Given the description of an element on the screen output the (x, y) to click on. 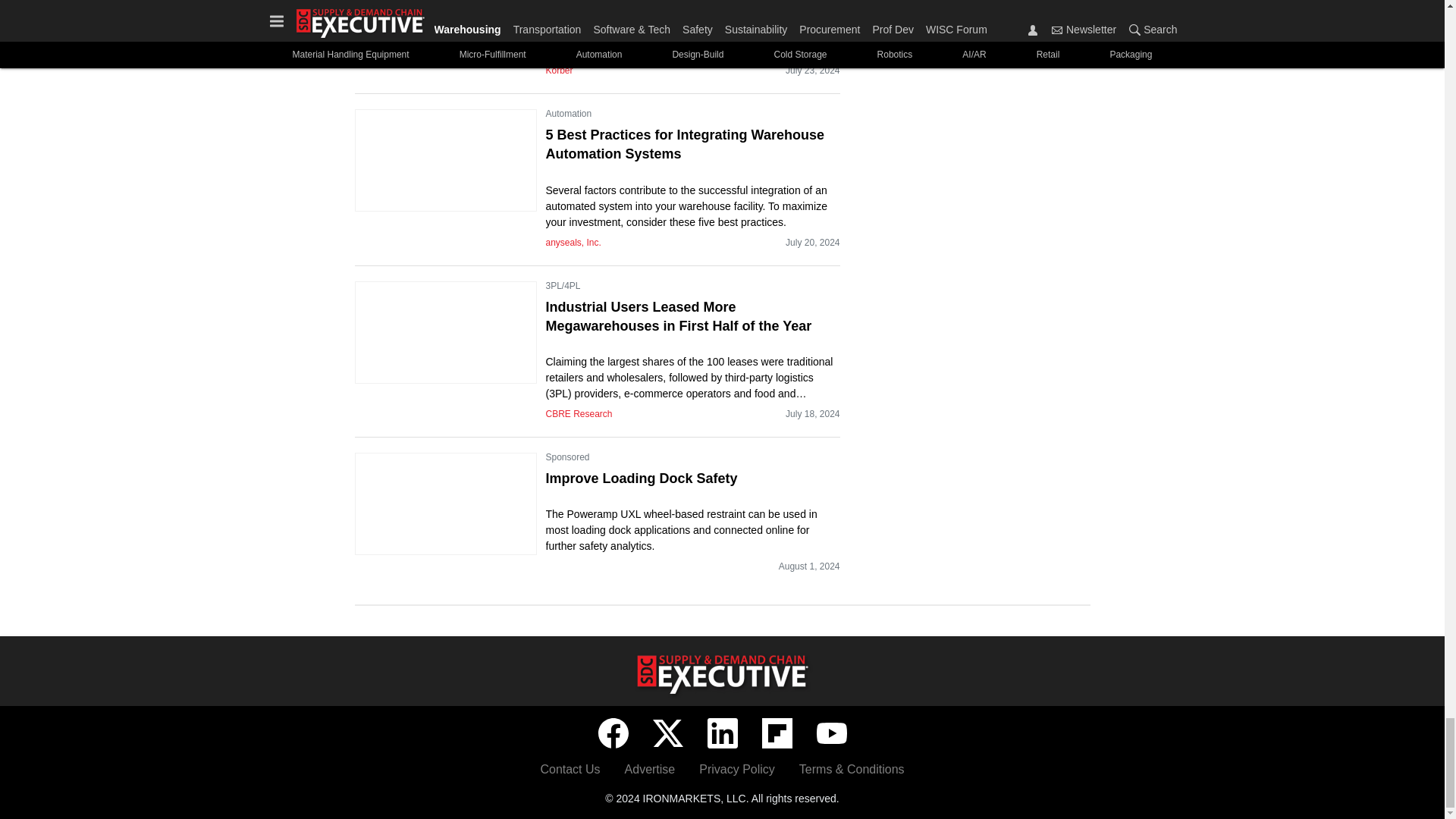
LinkedIn icon (721, 733)
Facebook icon (611, 733)
Twitter X icon (667, 733)
Flipboard icon (776, 733)
YouTube icon (830, 733)
